Given the description of an element on the screen output the (x, y) to click on. 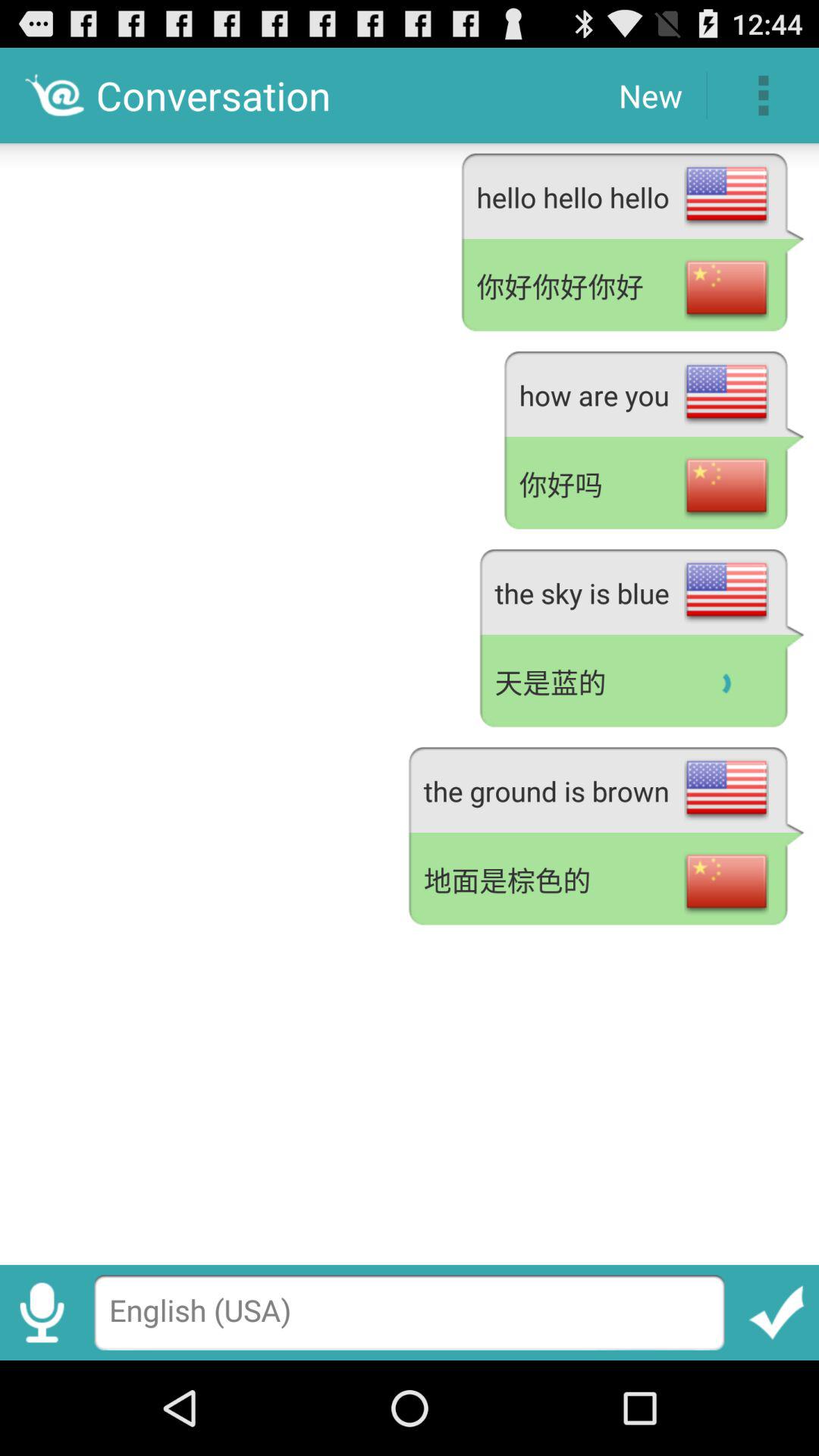
choose the new (650, 95)
